Given the description of an element on the screen output the (x, y) to click on. 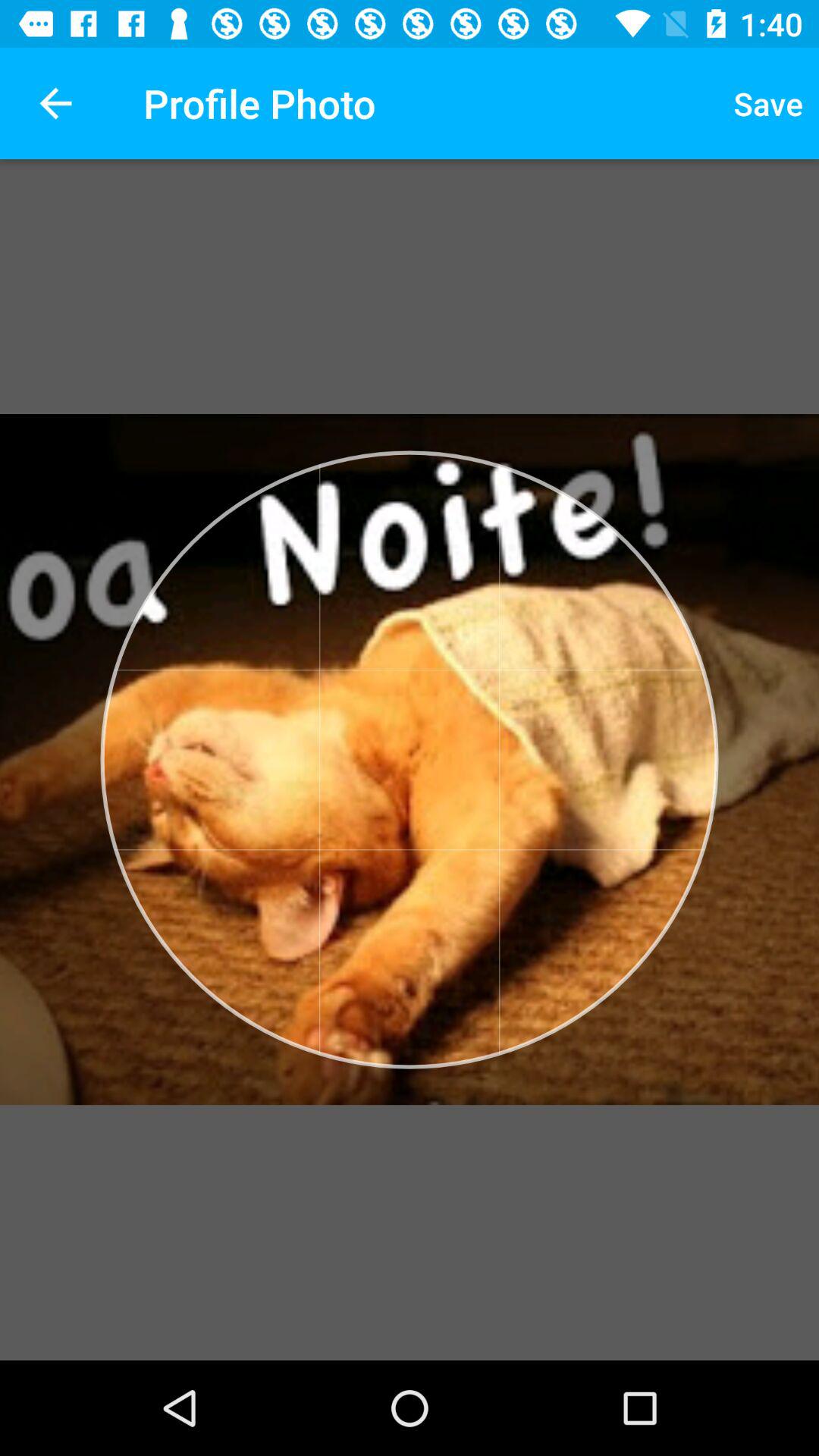
tap the icon at the top right corner (768, 103)
